Given the description of an element on the screen output the (x, y) to click on. 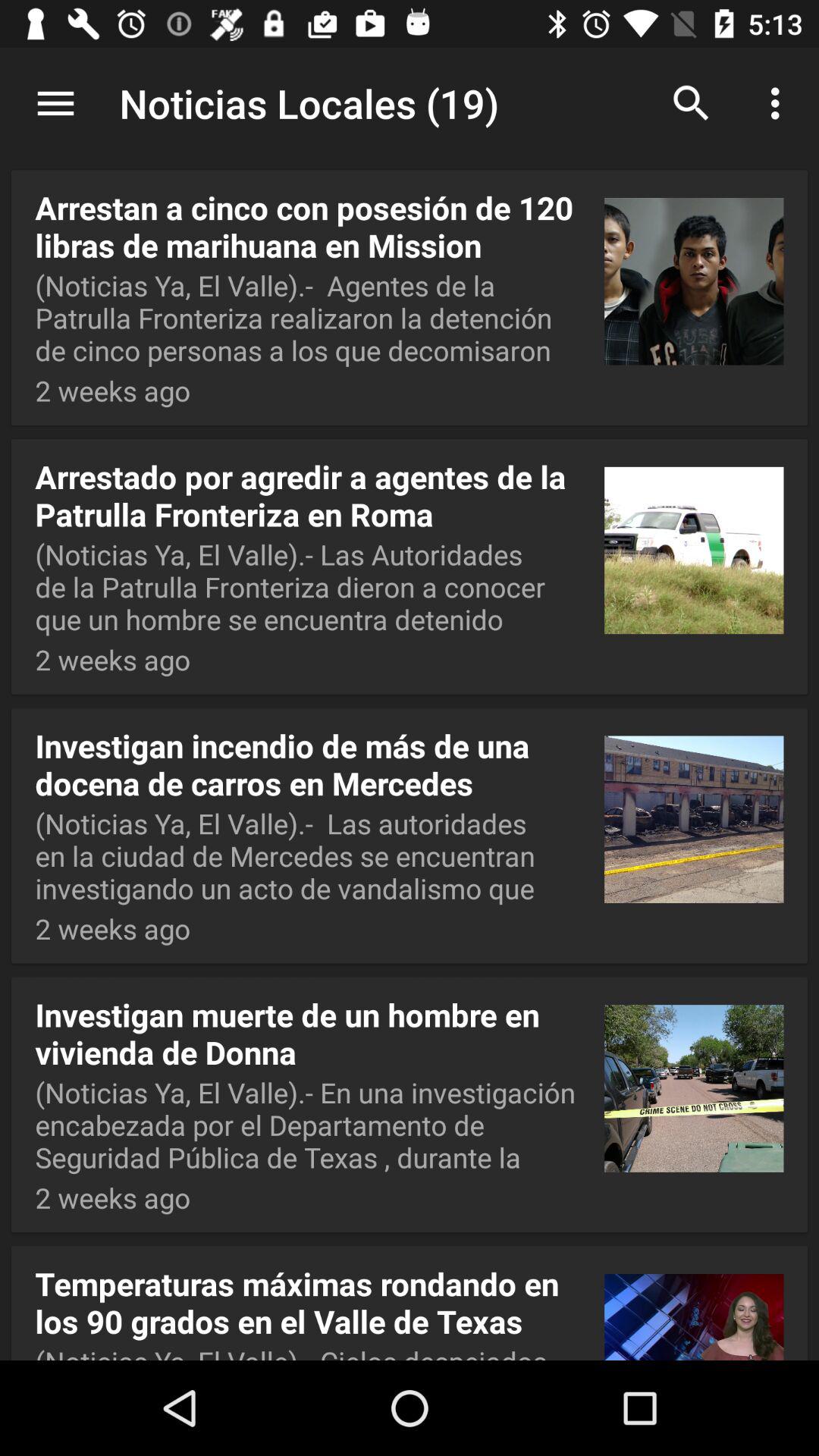
press the icon next to noticias locales (19) item (691, 103)
